Given the description of an element on the screen output the (x, y) to click on. 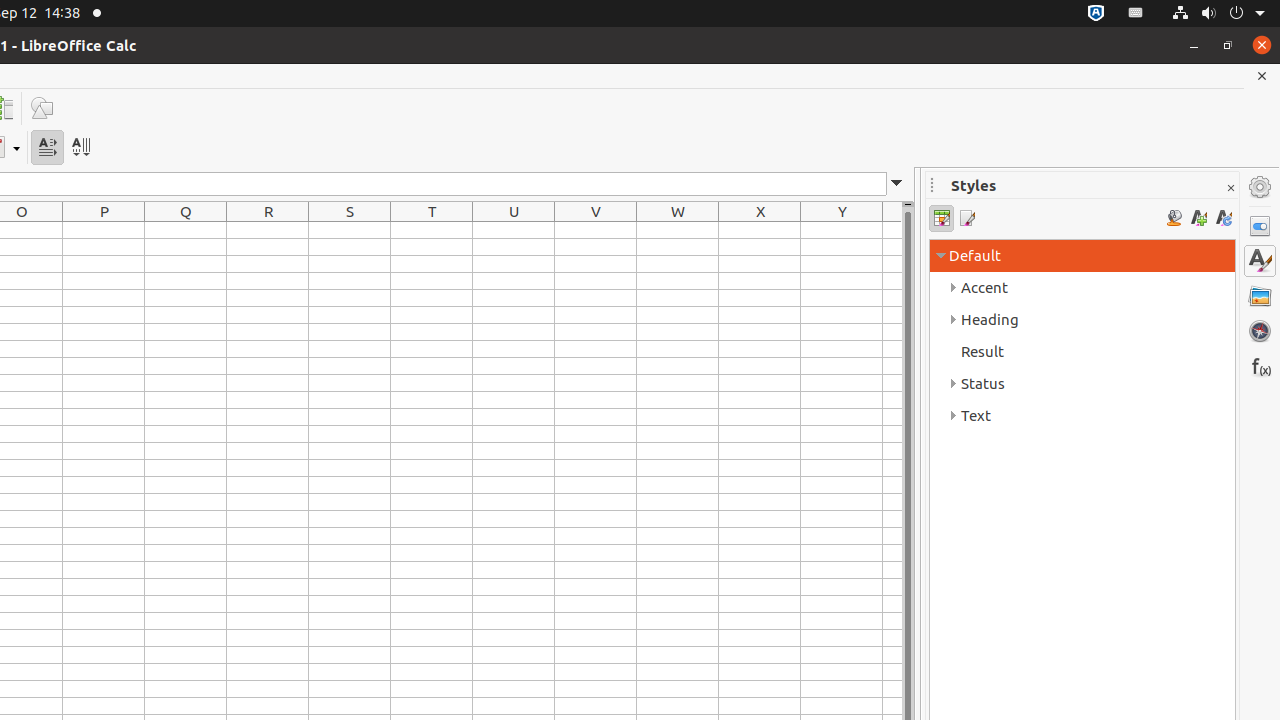
Properties Element type: radio-button (1260, 226)
Update Style Element type: push-button (1223, 218)
Text direction from top to bottom Element type: toggle-button (80, 147)
Styles Element type: radio-button (1260, 261)
